Given the description of an element on the screen output the (x, y) to click on. 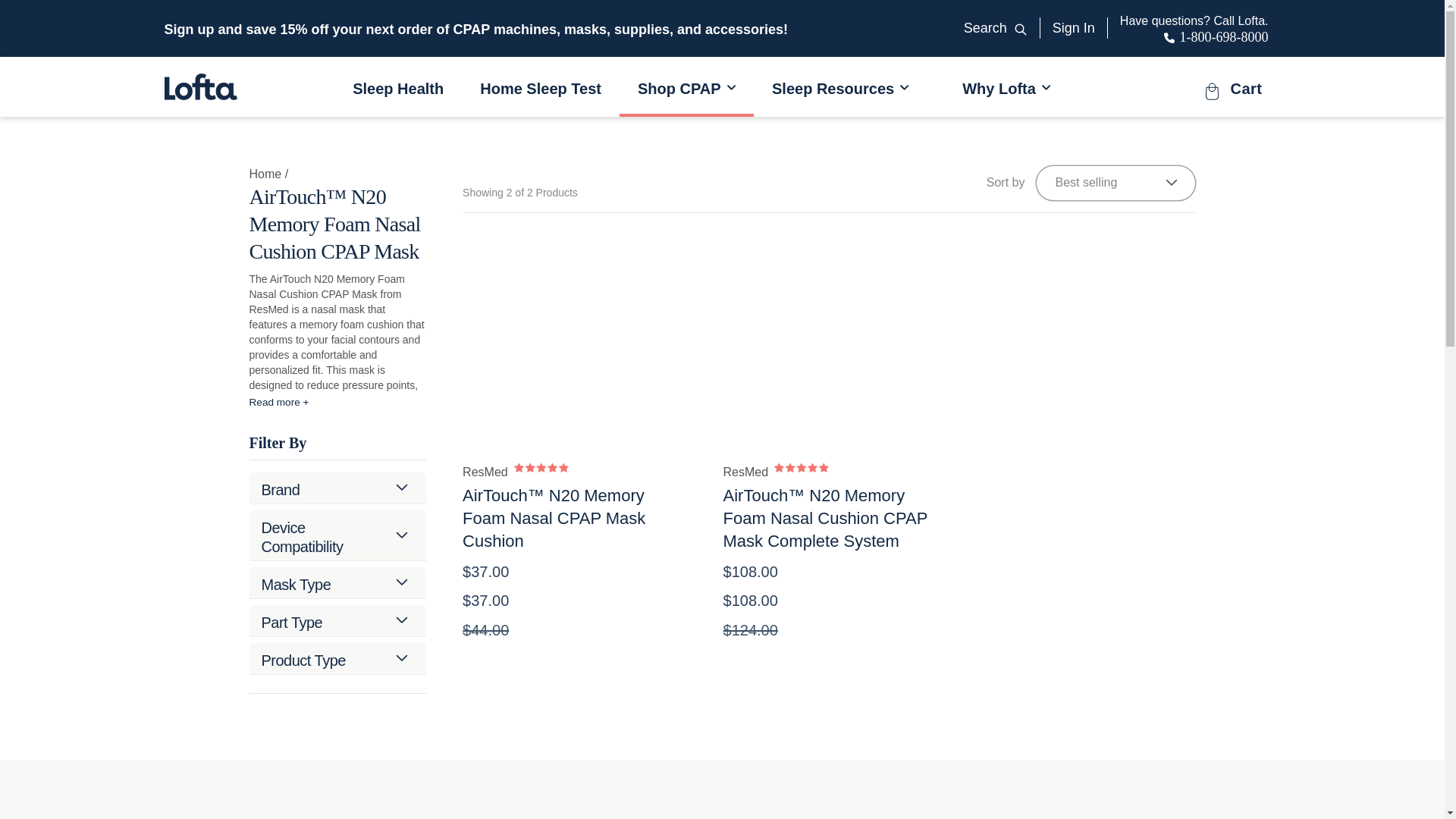
Skip to content (1194, 28)
Sign In (72, 27)
Search (1074, 27)
